Given the description of an element on the screen output the (x, y) to click on. 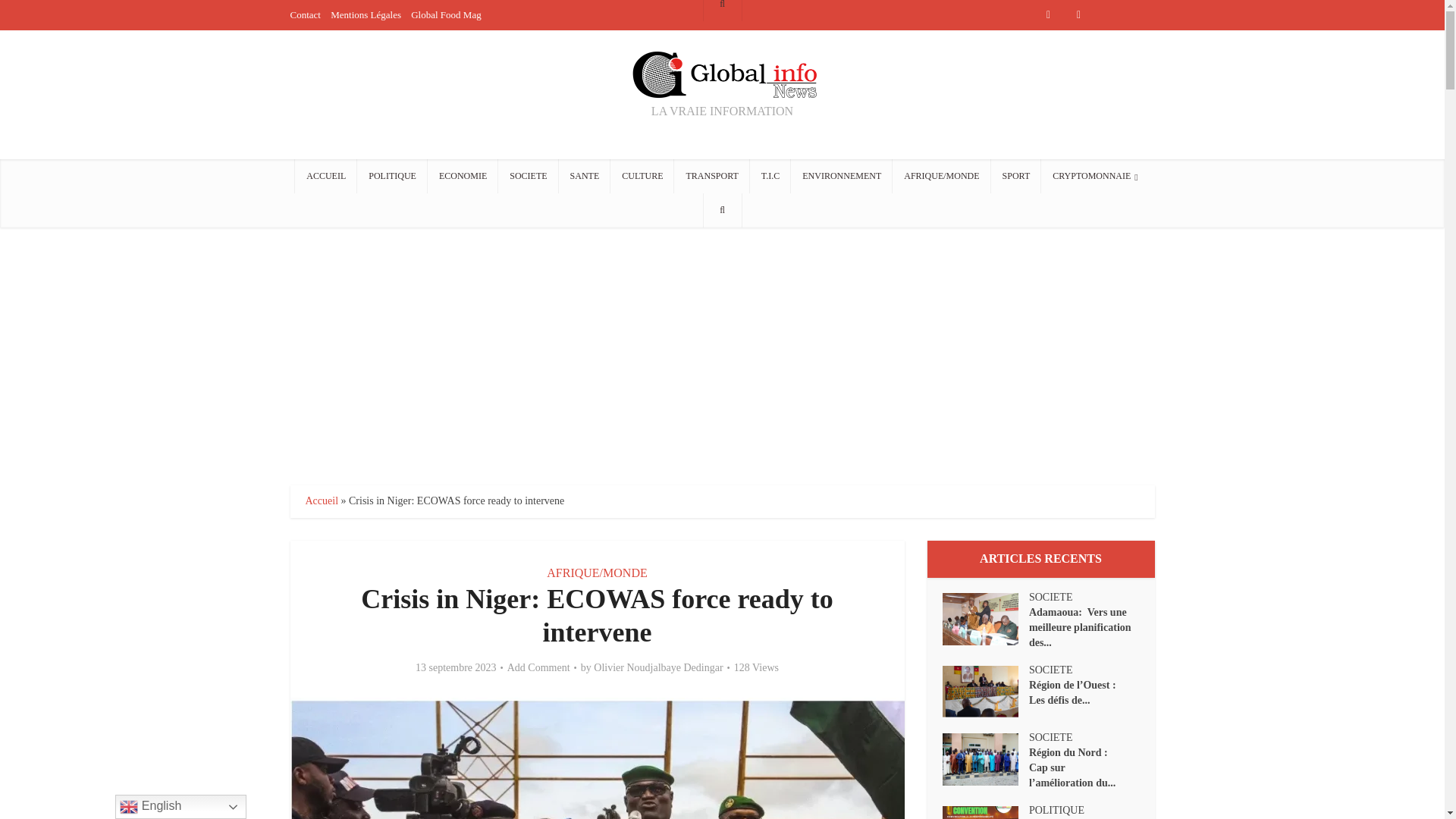
CRYPTOMONNAIE (1095, 175)
Global Food Mag (445, 14)
CULTURE (642, 175)
ENVIRONNEMENT (841, 175)
TRANSPORT (711, 175)
SOCIETE (527, 175)
ACCUEIL (325, 175)
SANTE (585, 175)
Contact (304, 14)
Advertisement (721, 356)
ECONOMIE (462, 175)
T.I.C (769, 175)
SPORT (1016, 175)
POLITIQUE (392, 175)
